Given the description of an element on the screen output the (x, y) to click on. 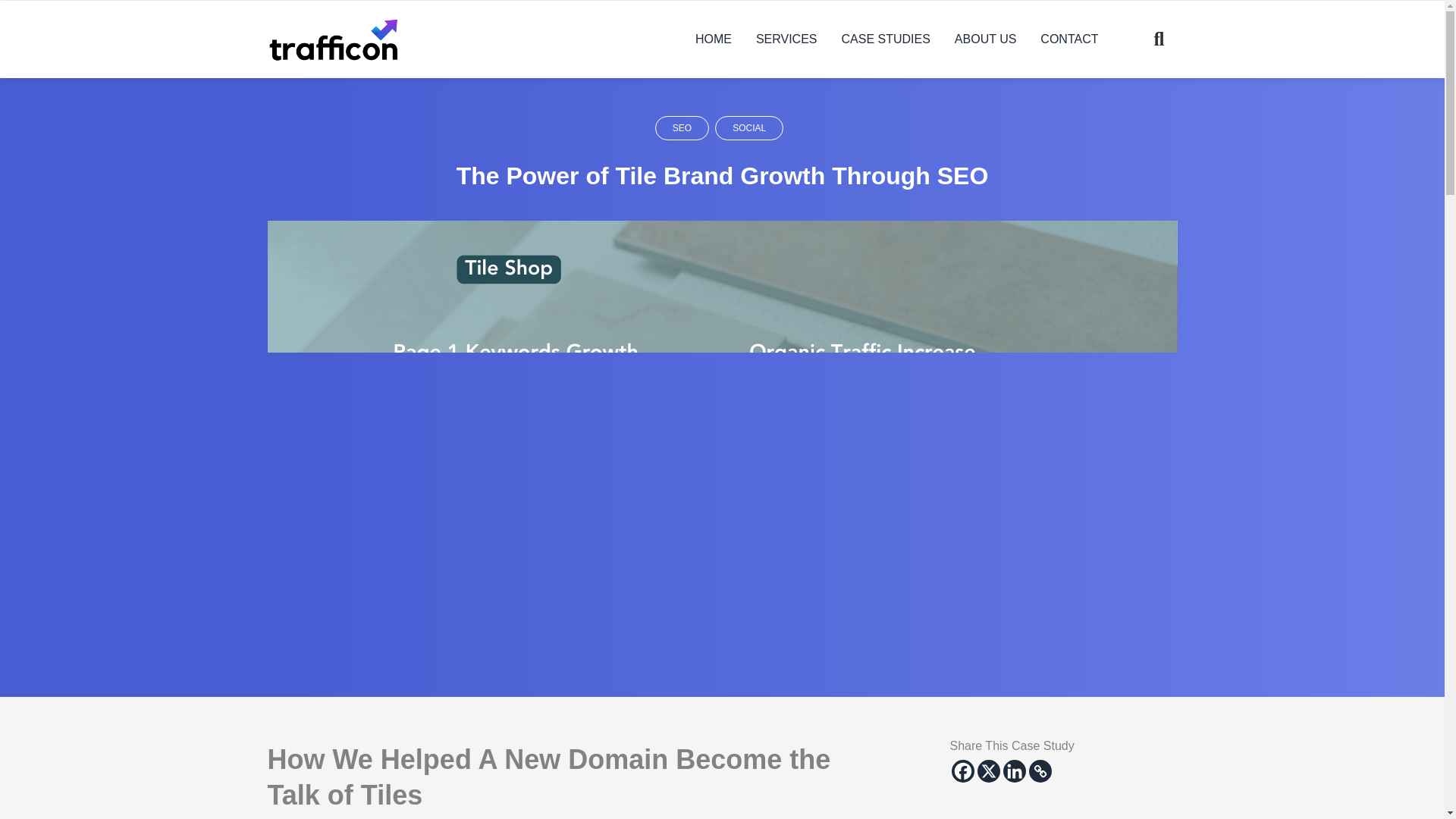
Facebook (962, 771)
SERVICES (786, 38)
SEO (682, 128)
SOCIAL (748, 128)
CONTACT (1068, 38)
ABOUT US (985, 38)
CASE STUDIES (885, 38)
Copy Link (1039, 771)
Linkedin (1014, 771)
X (987, 771)
